Given the description of an element on the screen output the (x, y) to click on. 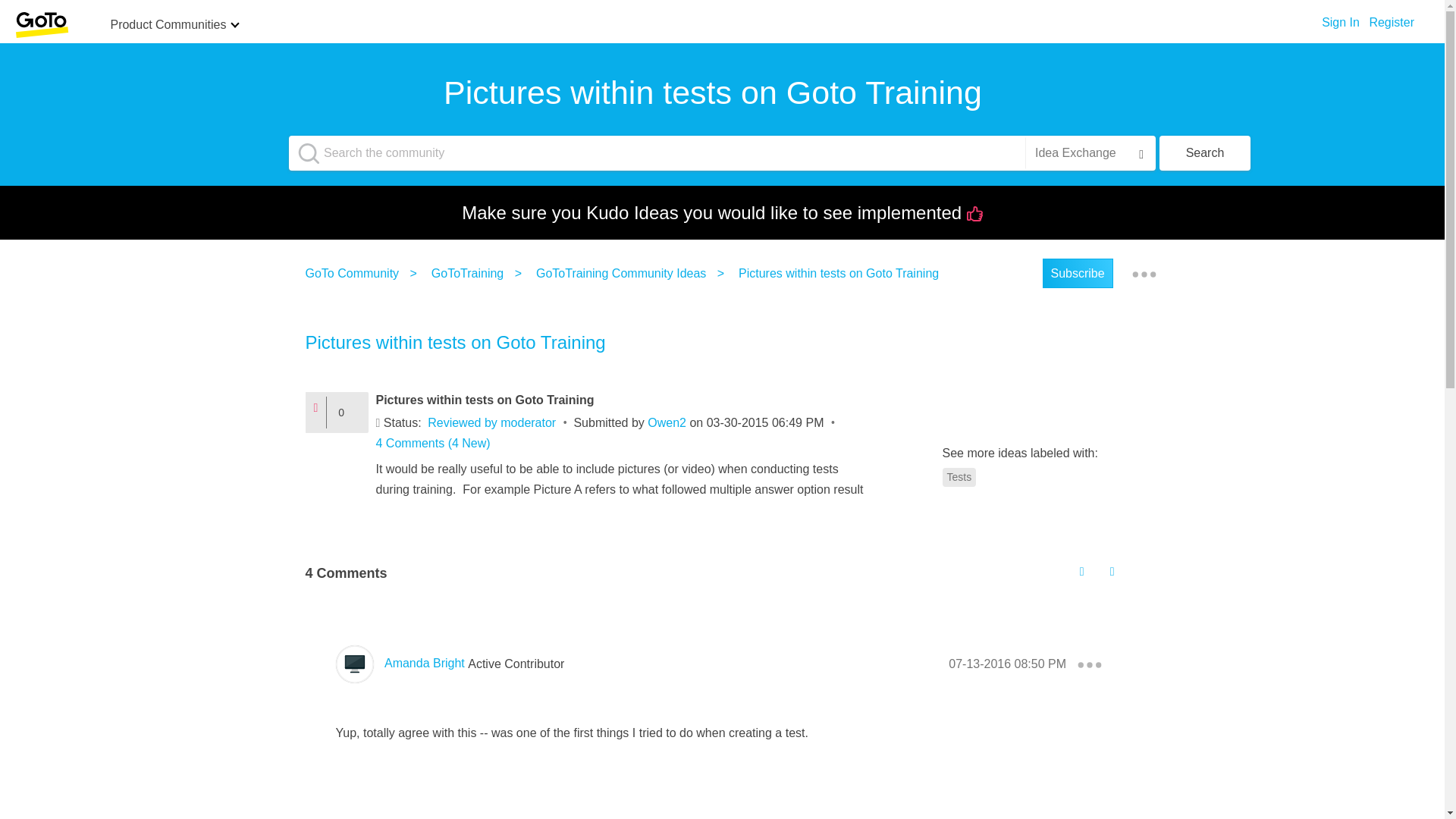
GoTo Community (355, 273)
Reviewed by moderator (492, 422)
GoTo Community Home (41, 24)
Product Communities (167, 25)
GoTo Community Home (41, 25)
Search (1204, 152)
GoToTraining Community Ideas (624, 273)
GoToTraining (470, 273)
The total number of kudos this post has received. (347, 412)
Register (1390, 18)
Search (1204, 152)
Tests (958, 476)
Search (1204, 152)
Sign In (1340, 18)
Options (1143, 274)
